Given the description of an element on the screen output the (x, y) to click on. 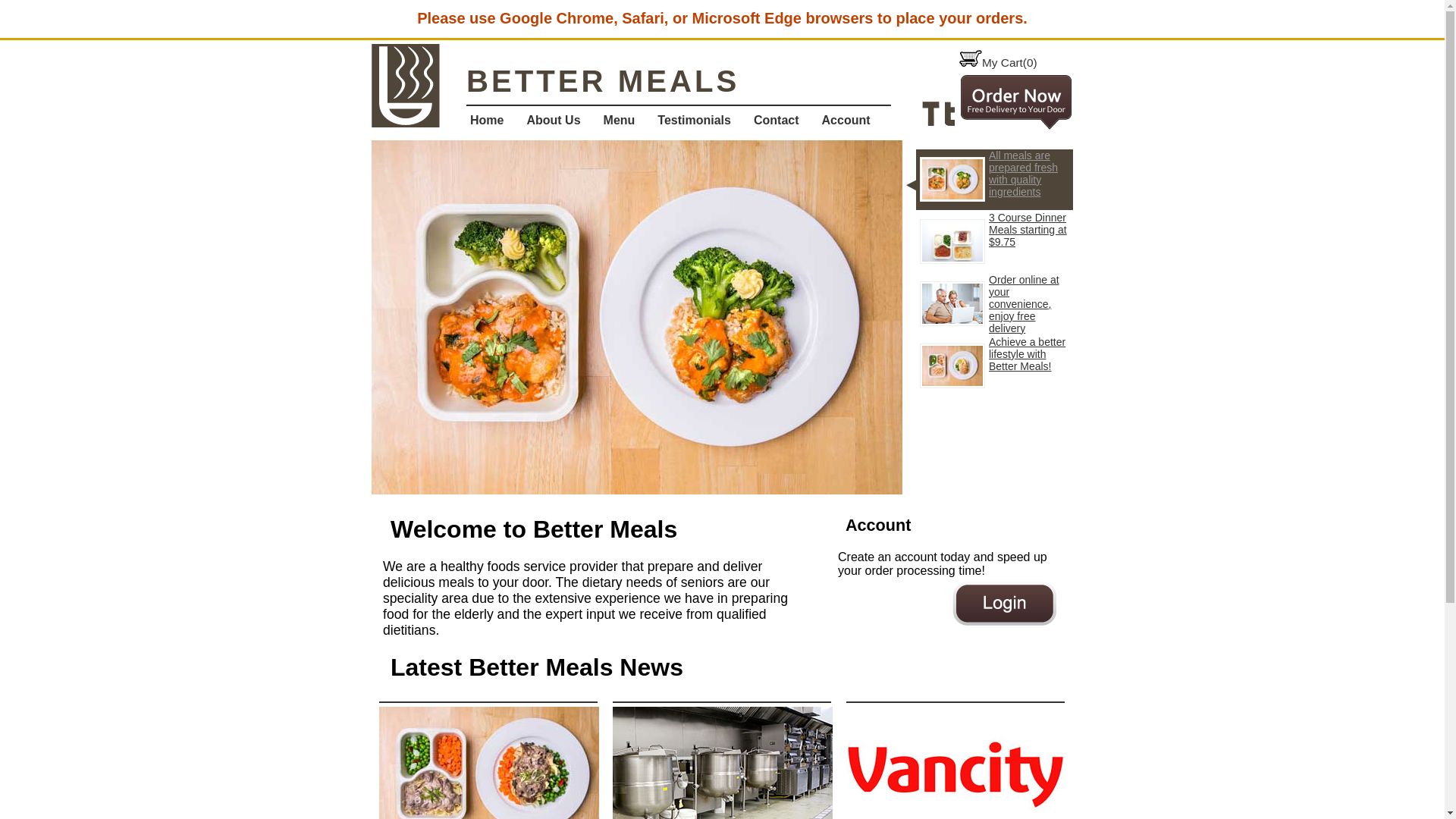
better meals Element type: hover (405, 85)
My Cart(0) Element type: text (998, 62)
Menu Element type: text (626, 120)
All meals are prepared fresh with quality ingredients Element type: text (994, 179)
Account Element type: text (853, 120)
About Us Element type: text (560, 120)
Testimonials Element type: text (701, 120)
cart Element type: hover (970, 53)
Achieve a better lifestyle with Better Meals! Element type: text (994, 365)
Home Element type: text (494, 120)
Contact Element type: text (783, 120)
Order online at your convenience, enjoy free delivery Element type: text (994, 303)
3 Course Dinner Meals starting at $9.75 Element type: text (994, 241)
